Given the description of an element on the screen output the (x, y) to click on. 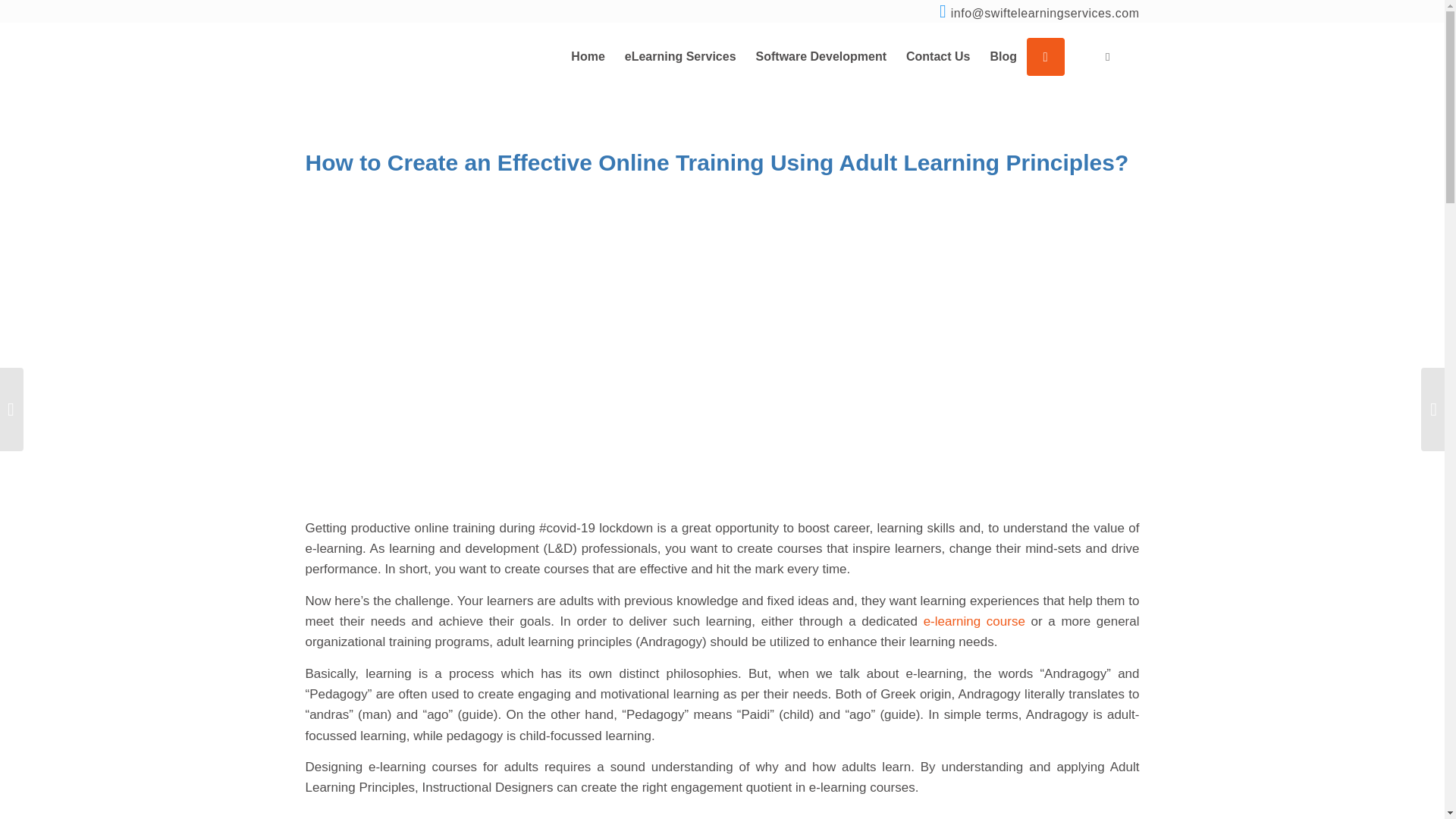
Software Development (820, 56)
Contact Us (937, 56)
e-learning course (974, 621)
eLearning Solutions (679, 56)
Mail (1045, 13)
Software Solutions (820, 56)
eLearning Services (679, 56)
